Given the description of an element on the screen output the (x, y) to click on. 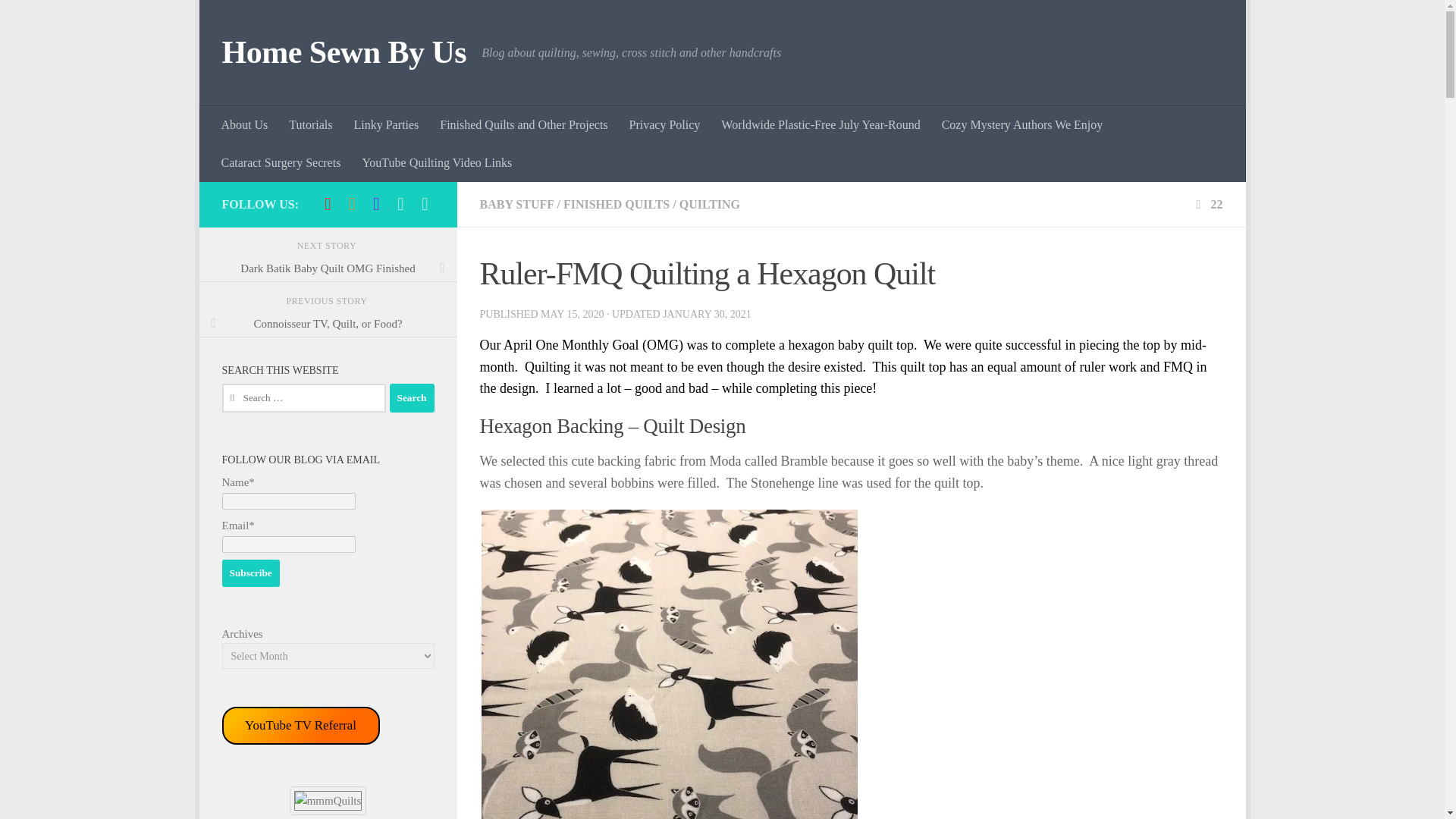
Tutorials (310, 125)
Linky Parties (385, 125)
FINISHED QUILTS (616, 204)
Subscribe (250, 573)
Skip to content (258, 20)
YouTube Quilting Video Links (436, 162)
22 (1207, 204)
Privacy Policy (664, 125)
Search (411, 398)
Home Sewn By Us (343, 53)
BABY STUFF (516, 204)
Finished Quilts and Other Projects (523, 125)
Hexi Bramble (668, 664)
Worldwide Plastic-Free July Year-Round (820, 125)
QUILTING (709, 204)
